Given the description of an element on the screen output the (x, y) to click on. 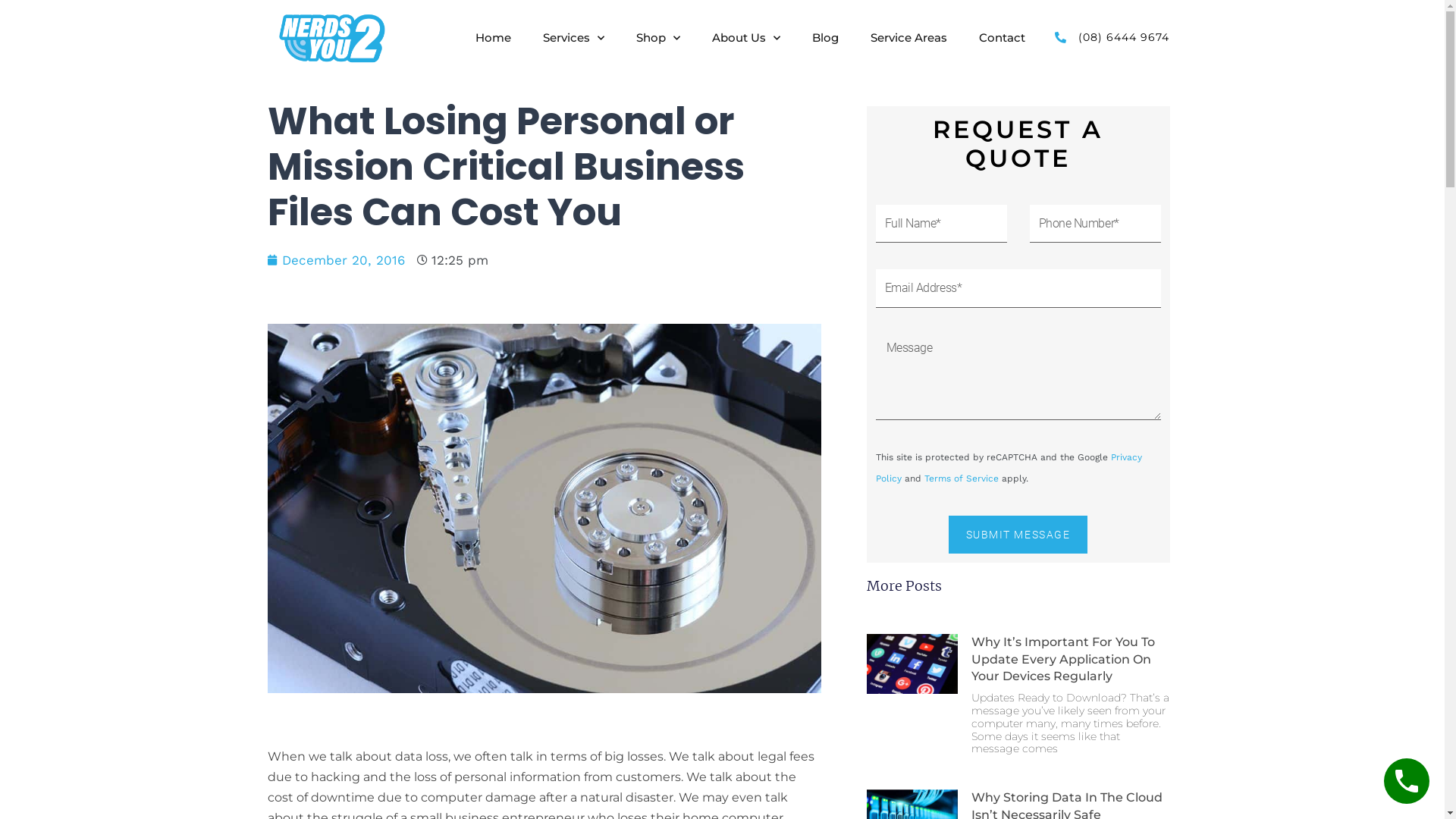
Shop Element type: text (658, 37)
SUBMIT MESSAGE Element type: text (1017, 534)
December 20, 2016 Element type: text (335, 260)
About Us Element type: text (746, 37)
Blog Element type: text (825, 37)
Contact Element type: text (1002, 37)
(08) 6444 9674 Element type: text (1108, 37)
Privacy Policy Element type: text (1008, 467)
Service Areas Element type: text (908, 37)
Services Element type: text (573, 37)
Home Element type: text (493, 37)
Terms of Service Element type: text (960, 478)
